Given the description of an element on the screen output the (x, y) to click on. 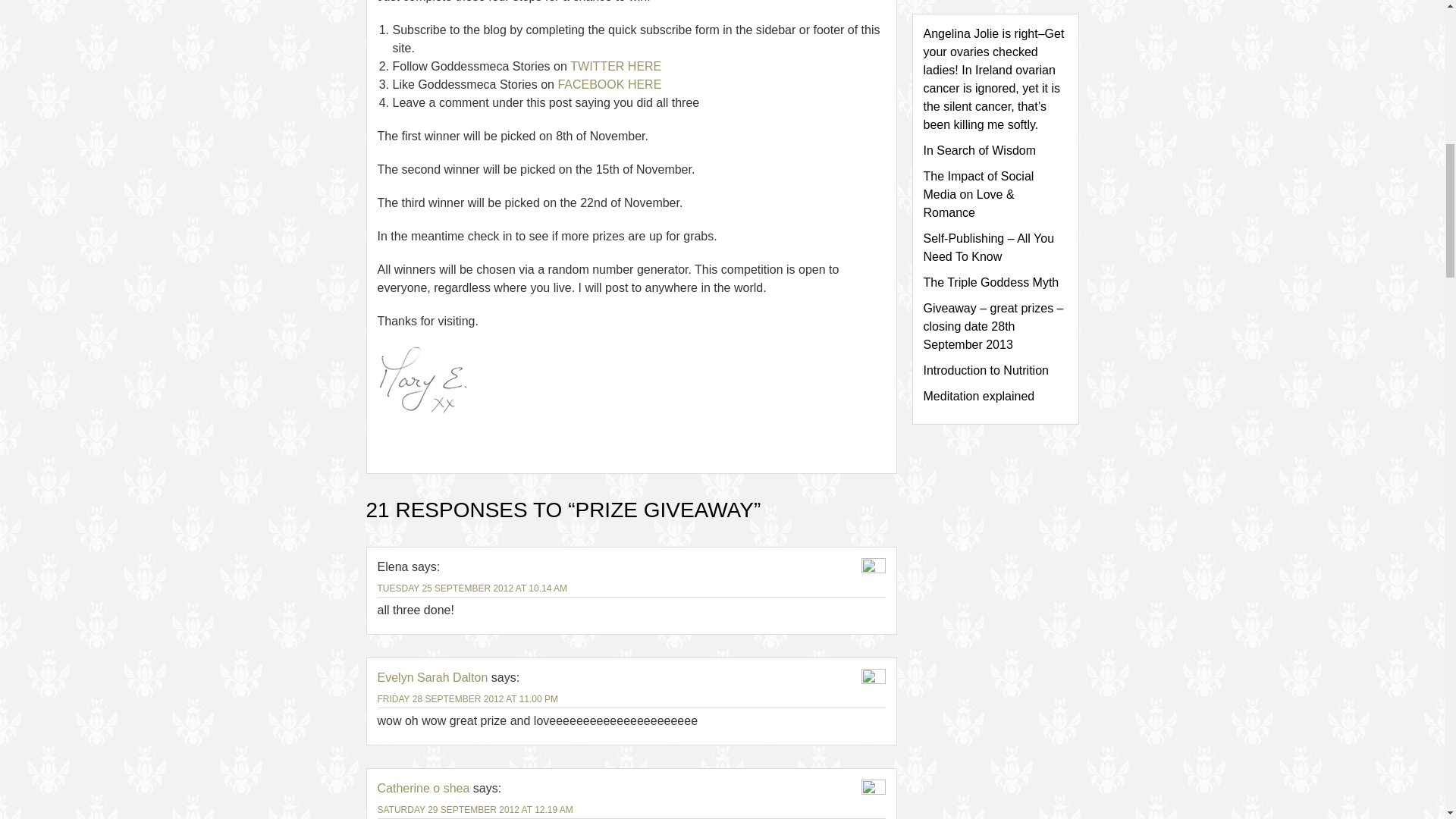
Catherine o shea (423, 788)
TWITTER HERE (615, 65)
SATURDAY 29 SEPTEMBER 2012 AT 12.19 AM (475, 809)
Evelyn Sarah Dalton (432, 676)
TUESDAY 25 SEPTEMBER 2012 AT 10.14 AM (472, 588)
FACEBOOK HERE (609, 83)
FRIDAY 28 SEPTEMBER 2012 AT 11.00 PM (468, 698)
signature (422, 379)
